Given the description of an element on the screen output the (x, y) to click on. 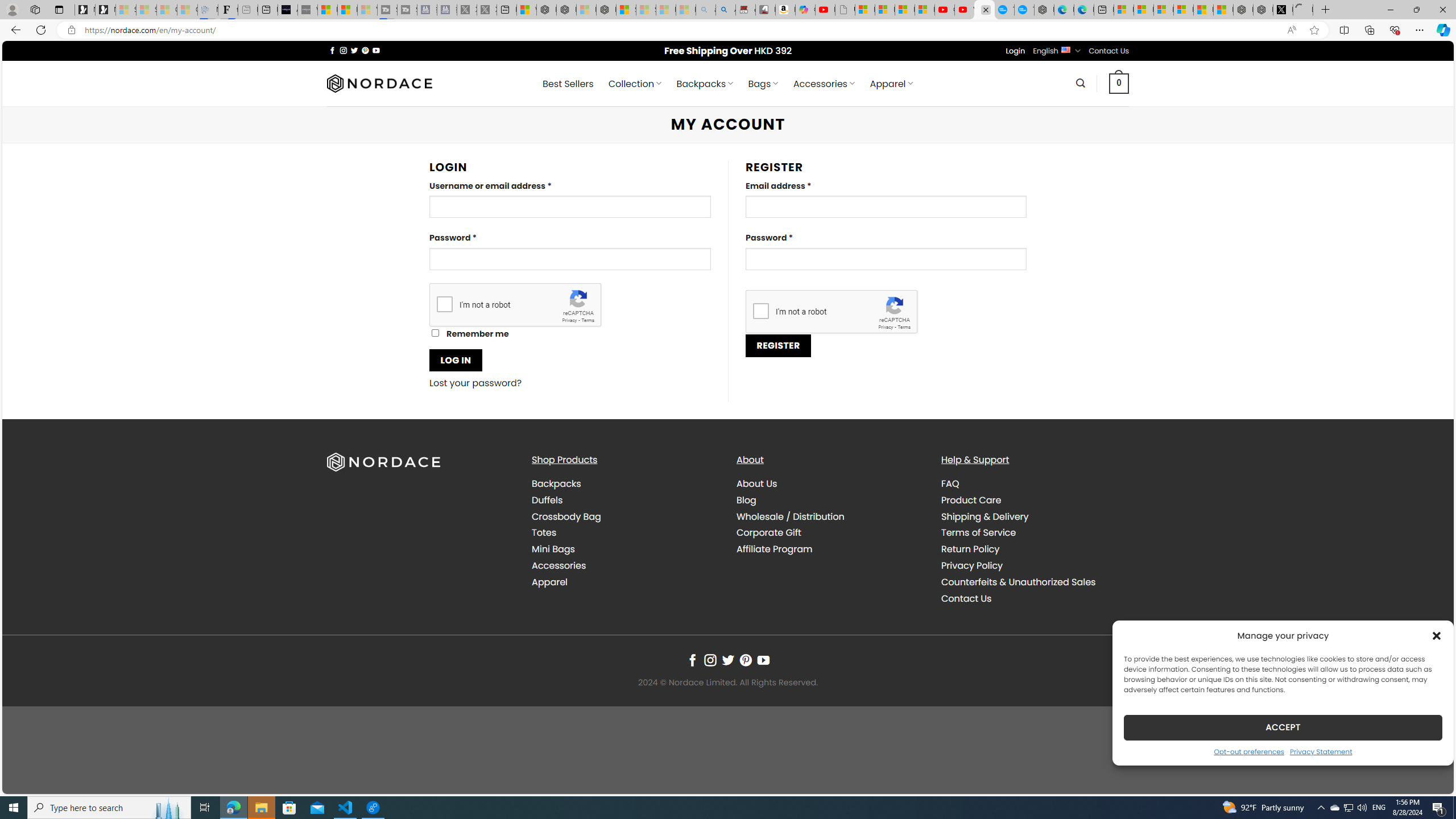
Accessories (558, 565)
Backpacks (555, 483)
Product Care (970, 499)
Wholesale / Distribution (790, 516)
Lost your password? (475, 382)
Product Care (1034, 499)
